Given the description of an element on the screen output the (x, y) to click on. 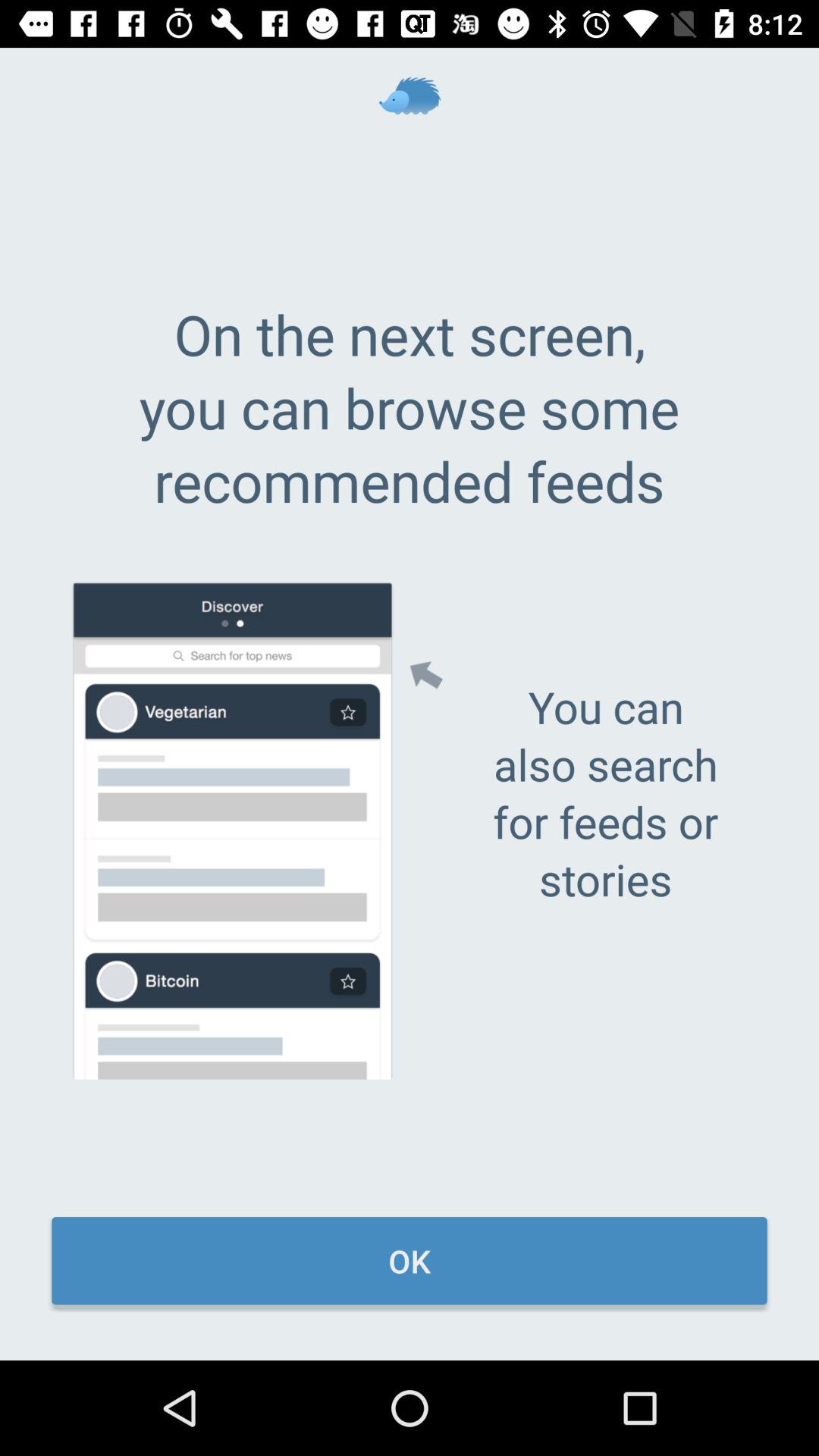
jump to the ok (409, 1260)
